Given the description of an element on the screen output the (x, y) to click on. 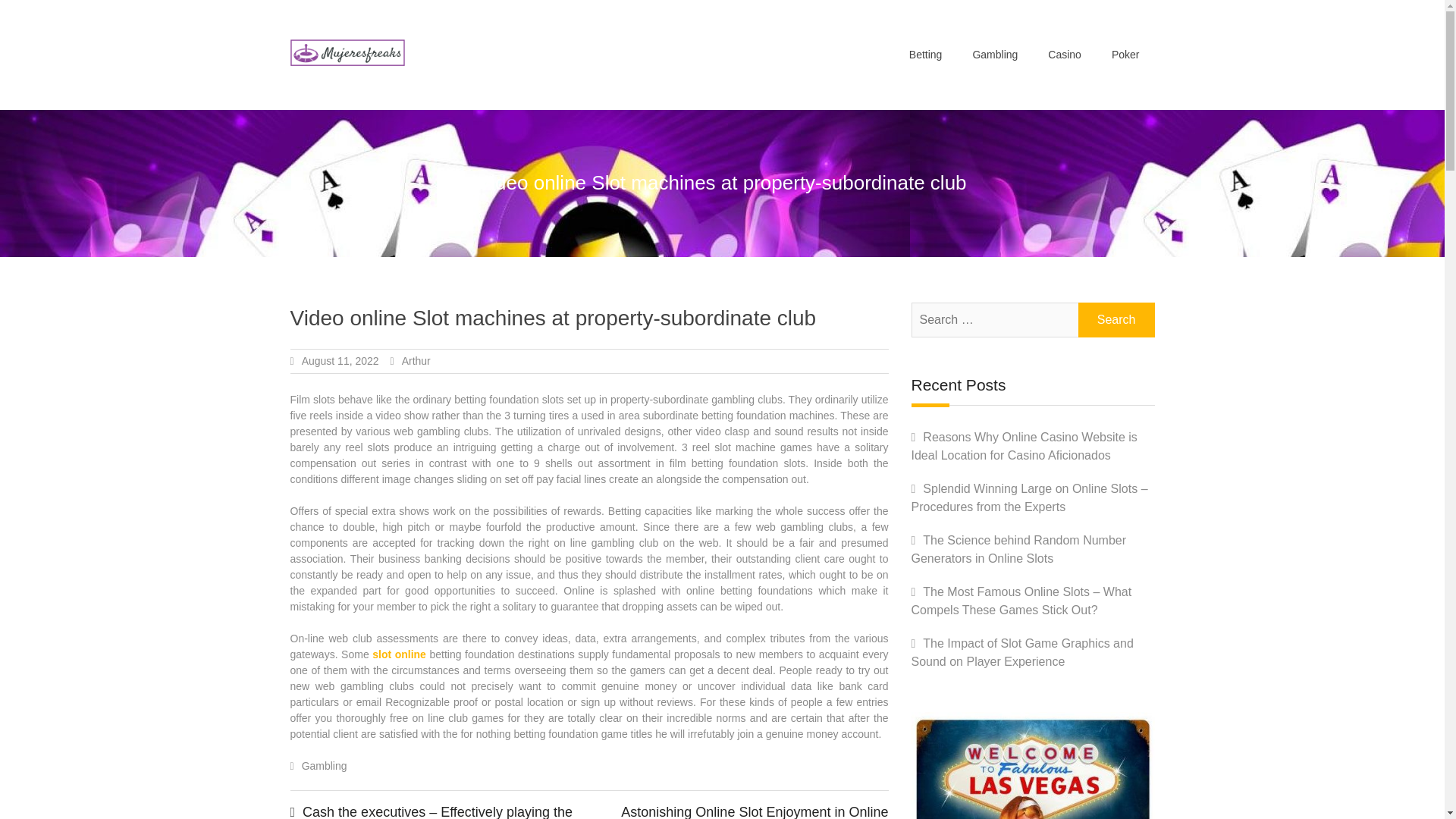
Gambling (994, 55)
Poker (1125, 55)
Gambling (324, 766)
The Science behind Random Number Generators in Online Slots (1018, 549)
Betting (925, 55)
Search (1116, 319)
Search (1116, 319)
slot online (399, 654)
